Given the description of an element on the screen output the (x, y) to click on. 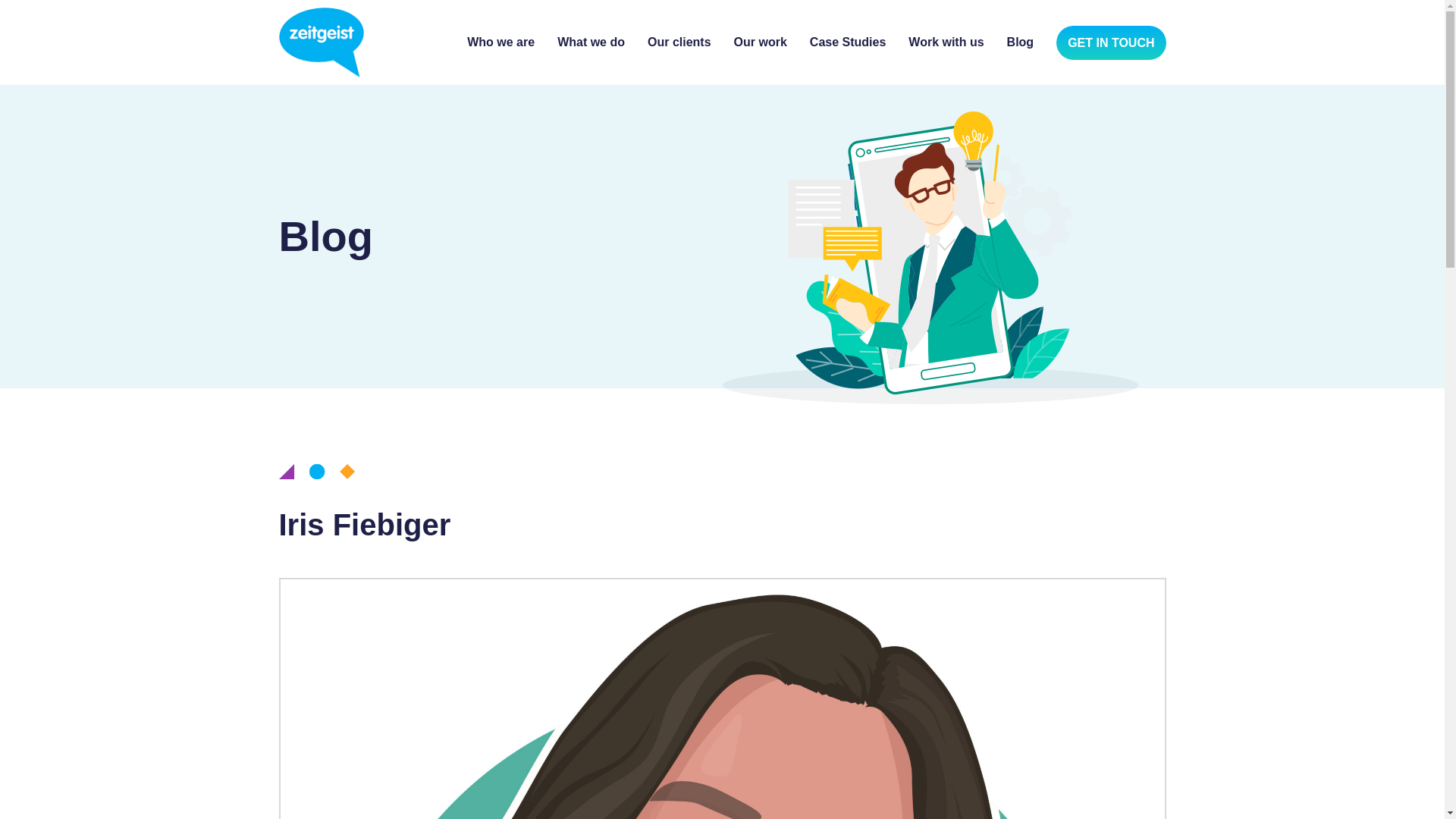
Our clients (679, 42)
Blog (1020, 42)
Who we are (500, 42)
Our work (760, 42)
What we do (590, 42)
GET IN TOUCH (1111, 42)
Case Studies (847, 42)
Work with us (946, 42)
